Given the description of an element on the screen output the (x, y) to click on. 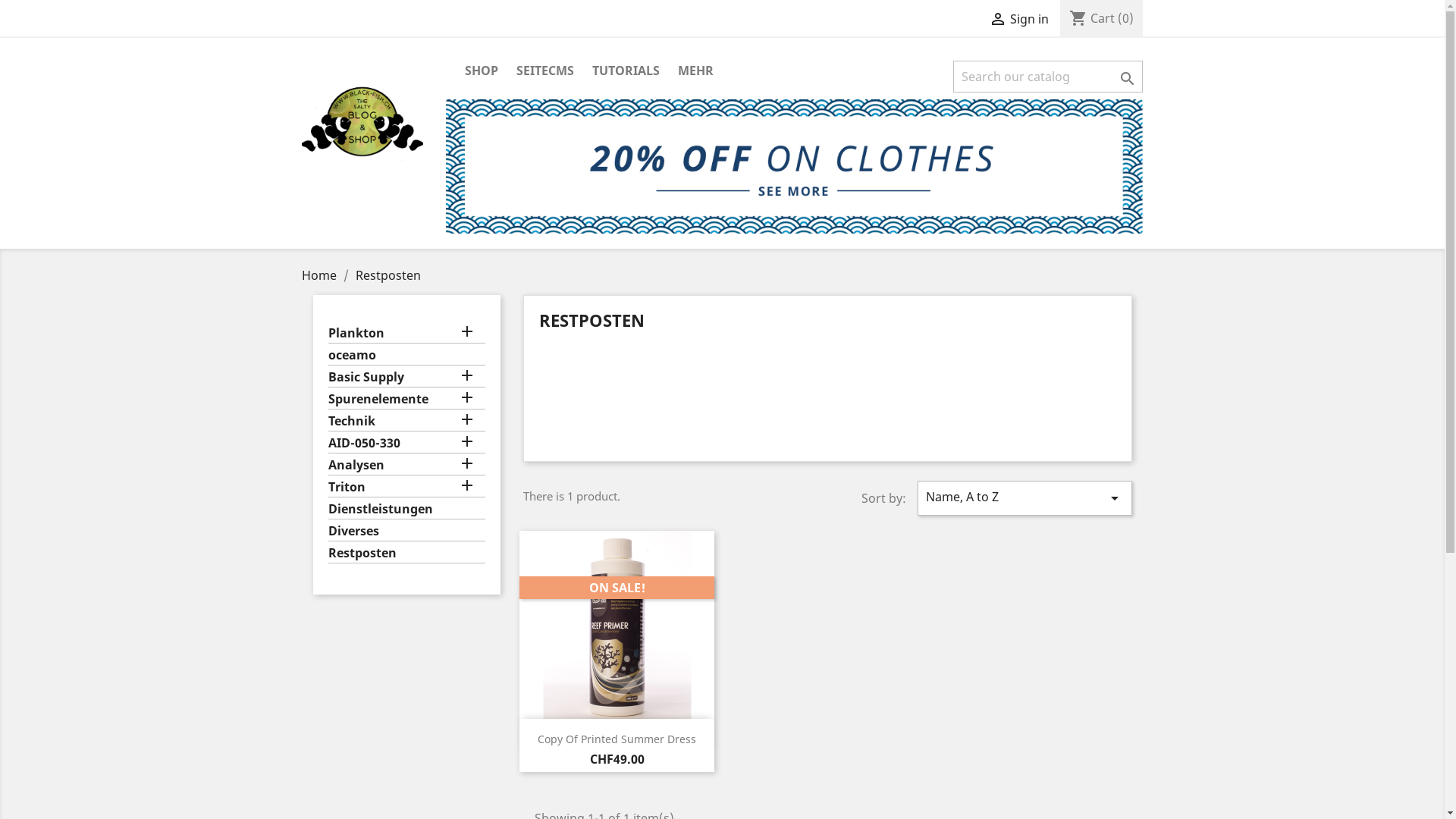
Diverses Element type: text (406, 532)
Analysen Element type: text (406, 466)
Restposten Element type: text (387, 274)
Technik Element type: text (406, 422)
Restposten Element type: text (406, 554)
Plankton Element type: text (406, 334)
SEITECMS Element type: text (544, 71)
Spurenelemente Element type: text (406, 400)
Basic Supply Element type: text (406, 378)
Home Element type: text (320, 274)
TUTORIALS Element type: text (624, 71)
AID-050-330 Element type: text (406, 444)
SHOP Element type: text (480, 71)
Copy Of Printed Summer Dress Element type: text (616, 738)
oceamo Element type: text (406, 356)
MEHR Element type: text (695, 71)
Triton Element type: text (406, 488)
Dienstleistungen Element type: text (406, 510)
